Given the description of an element on the screen output the (x, y) to click on. 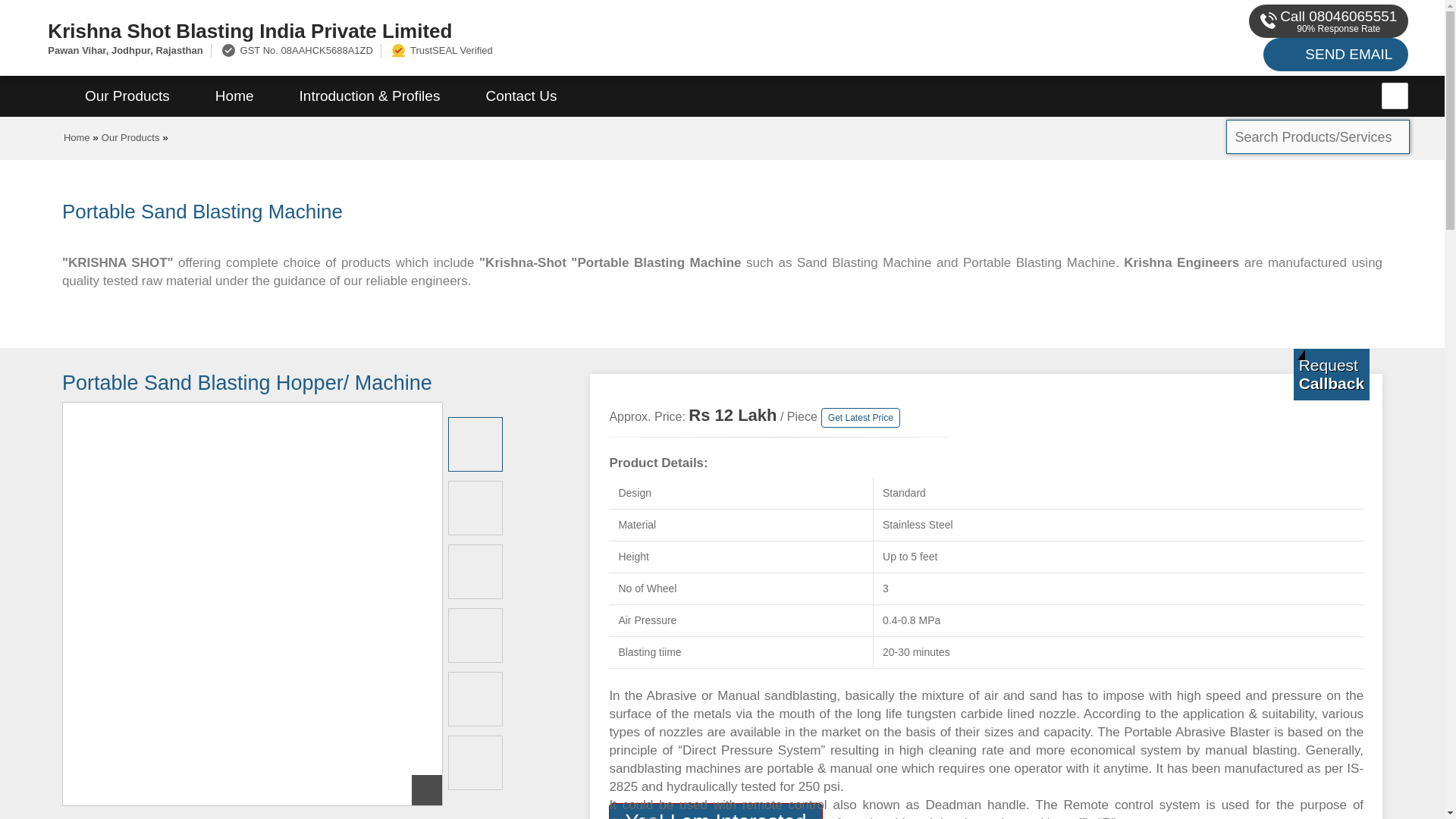
Krishna Shot Blasting India Private Limited (485, 31)
Home (77, 137)
Get a Call from us (1332, 374)
Our Products (130, 137)
Contact Us (521, 96)
Our Products (127, 96)
Home (234, 96)
